Given the description of an element on the screen output the (x, y) to click on. 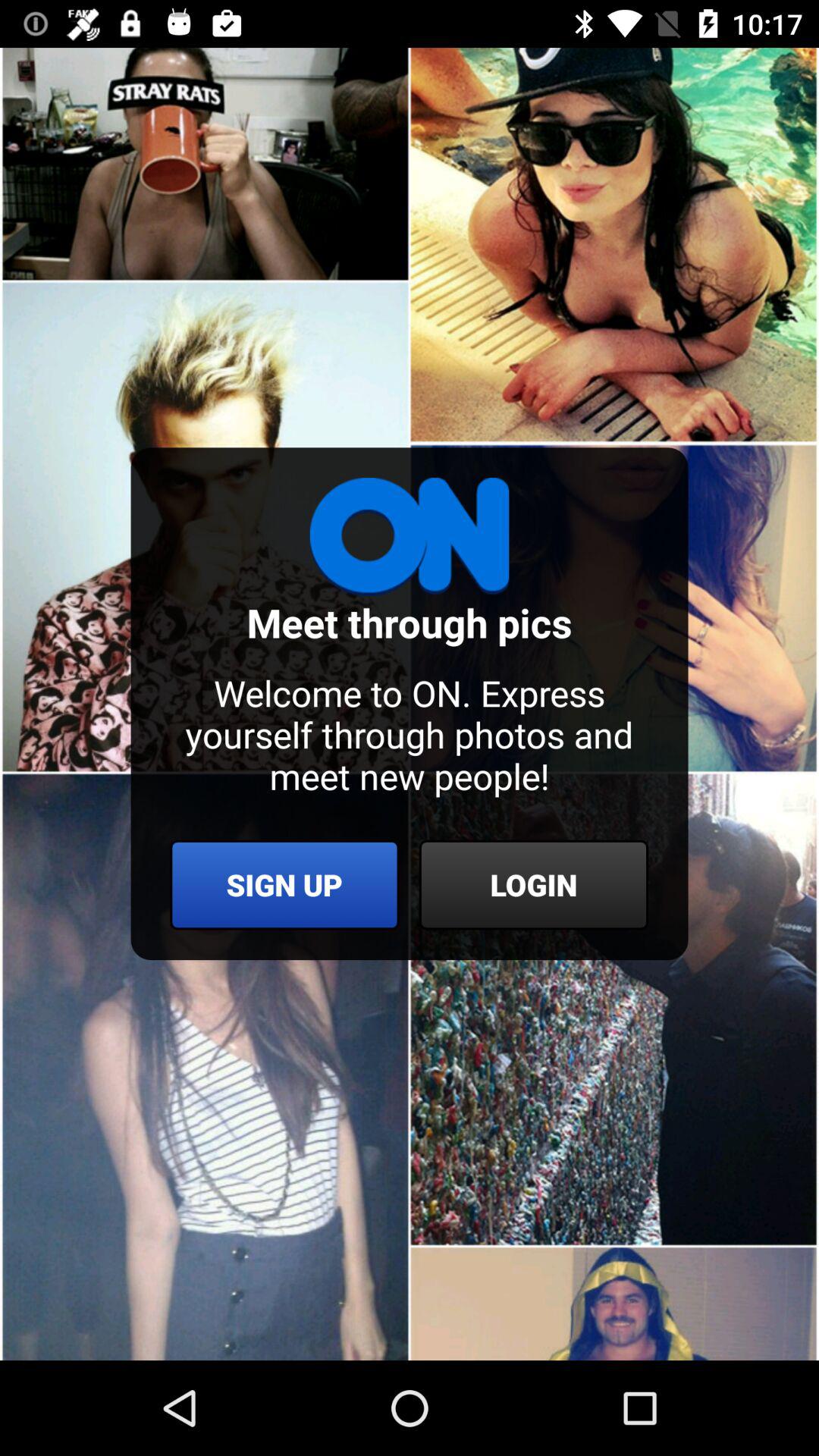
turn on the icon below the welcome to on icon (284, 884)
